Given the description of an element on the screen output the (x, y) to click on. 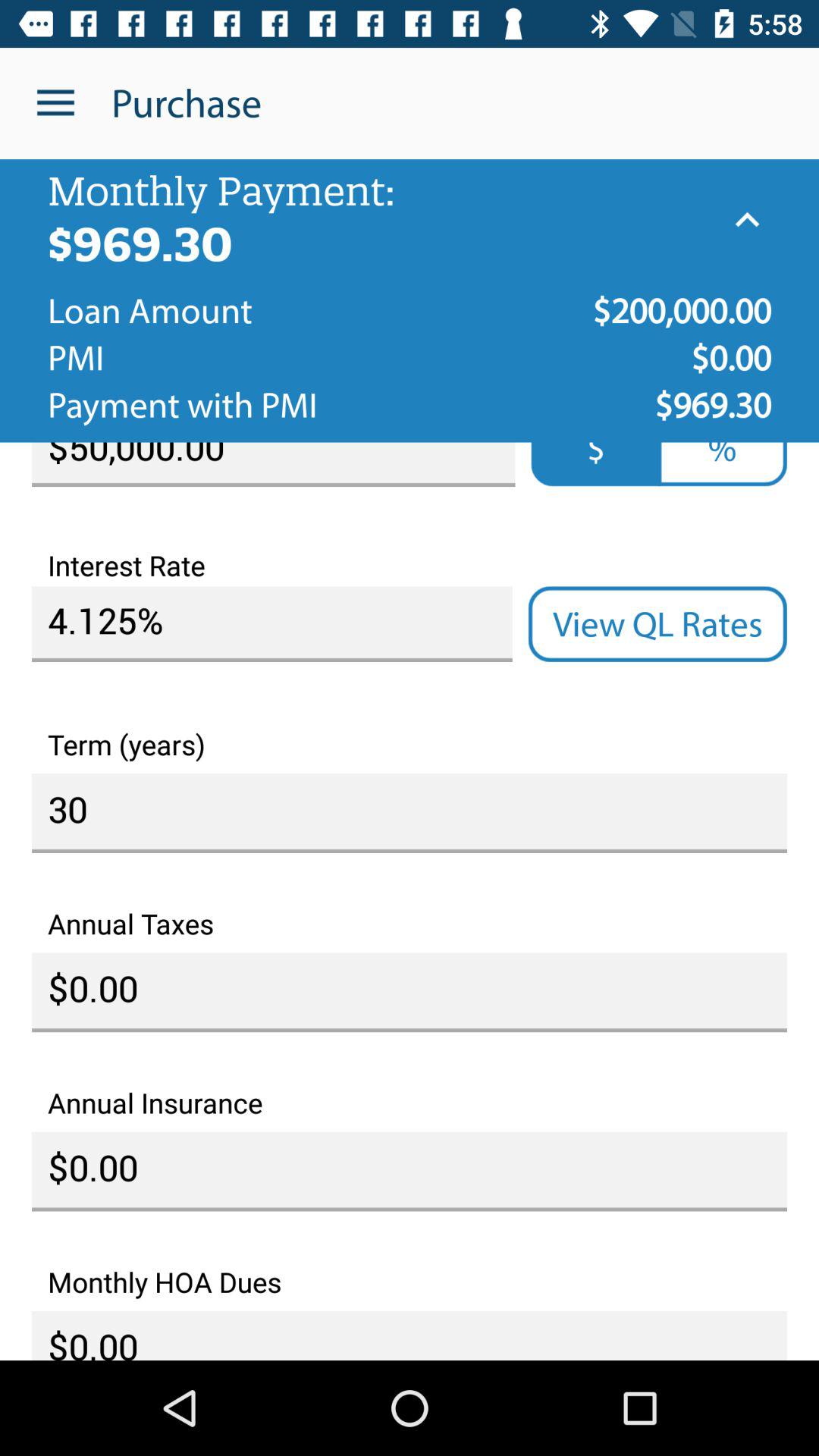
tap the item next to $50,000.00 item (595, 464)
